Given the description of an element on the screen output the (x, y) to click on. 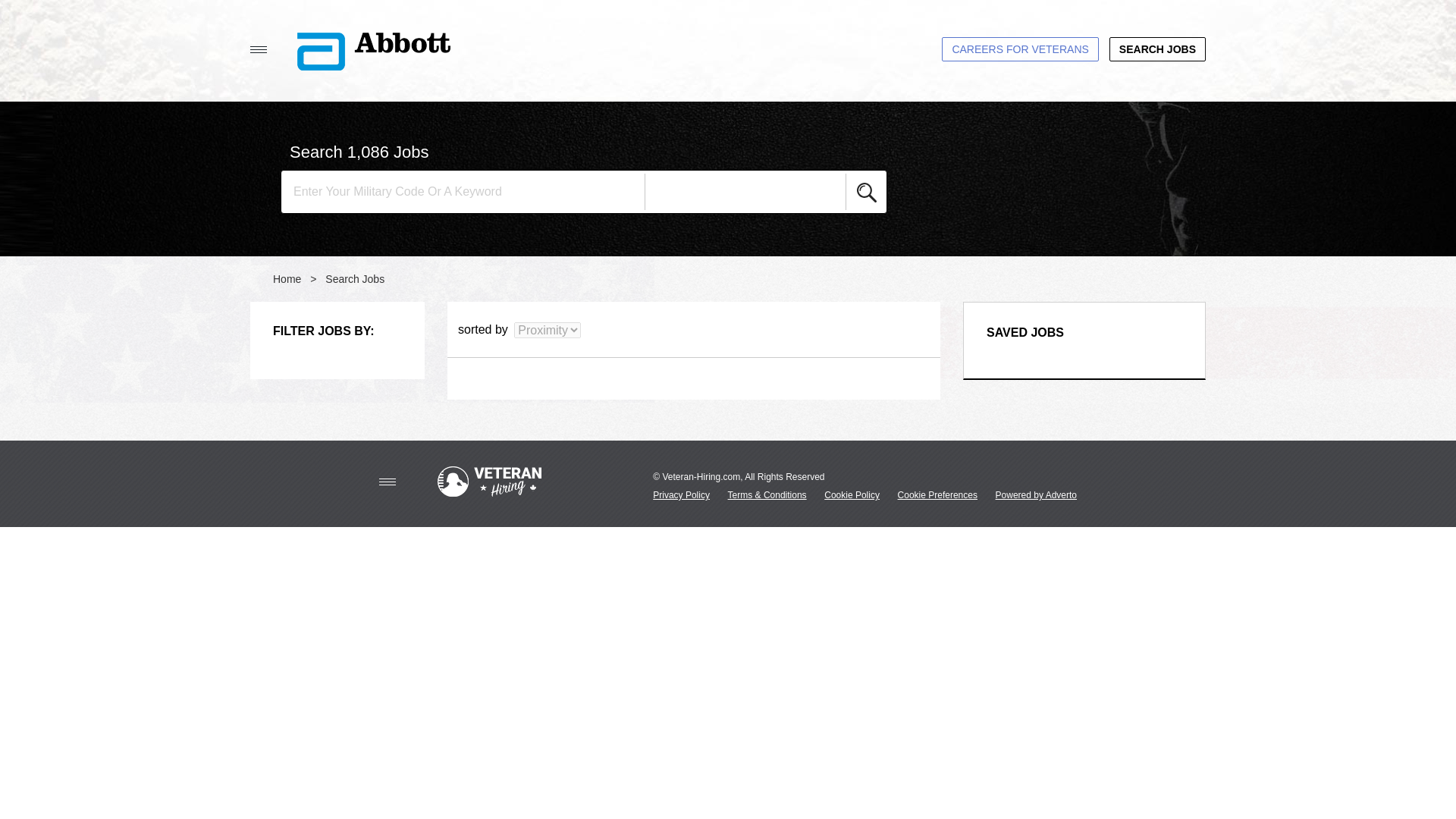
Search Jobs (354, 278)
CAREERS FOR VETERANS (1019, 48)
Home (287, 278)
SEARCH JOBS (1157, 48)
CAREERS FOR VETERANS (1019, 48)
